Given the description of an element on the screen output the (x, y) to click on. 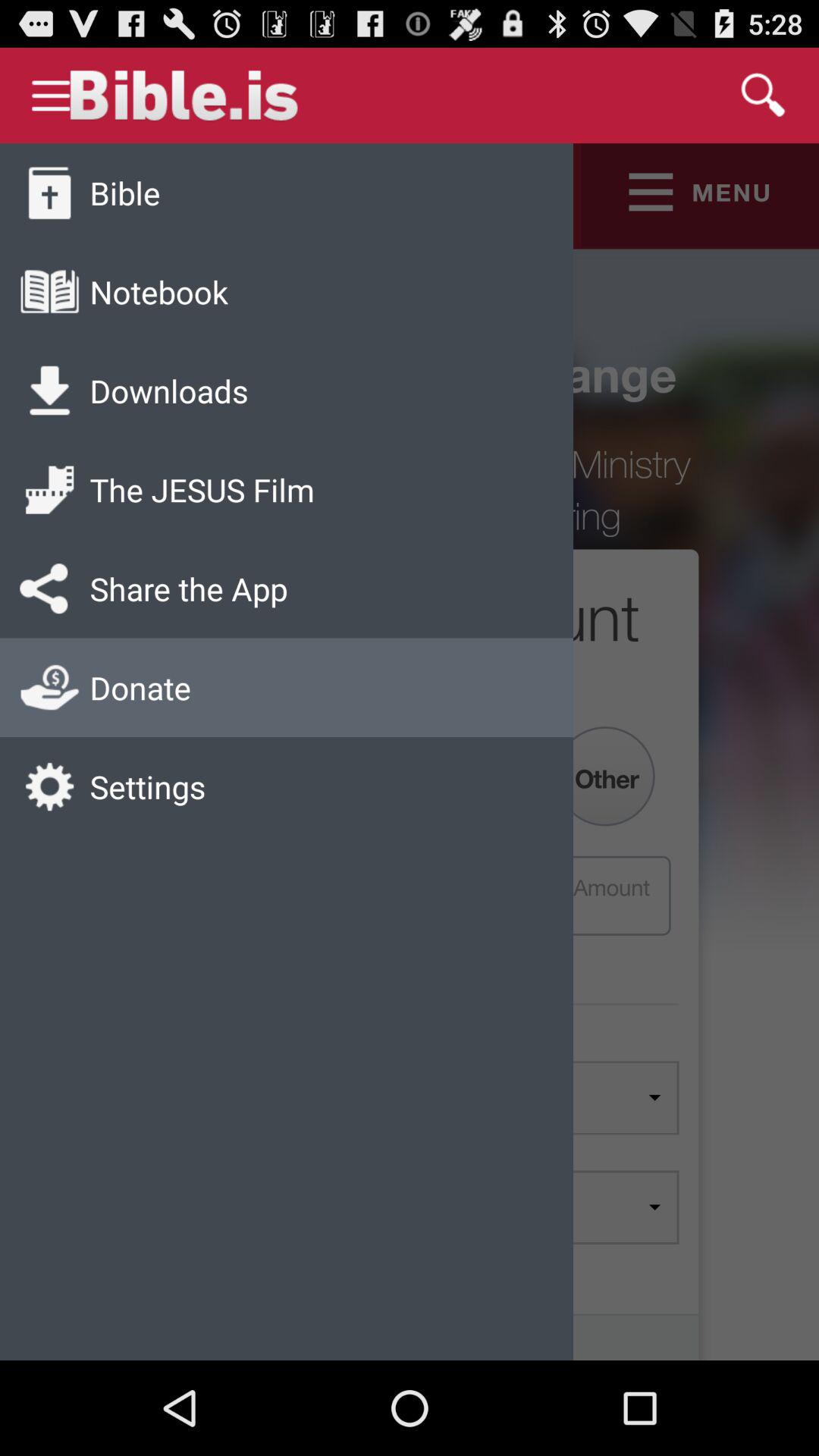
launch icon above the share the app item (201, 489)
